Given the description of an element on the screen output the (x, y) to click on. 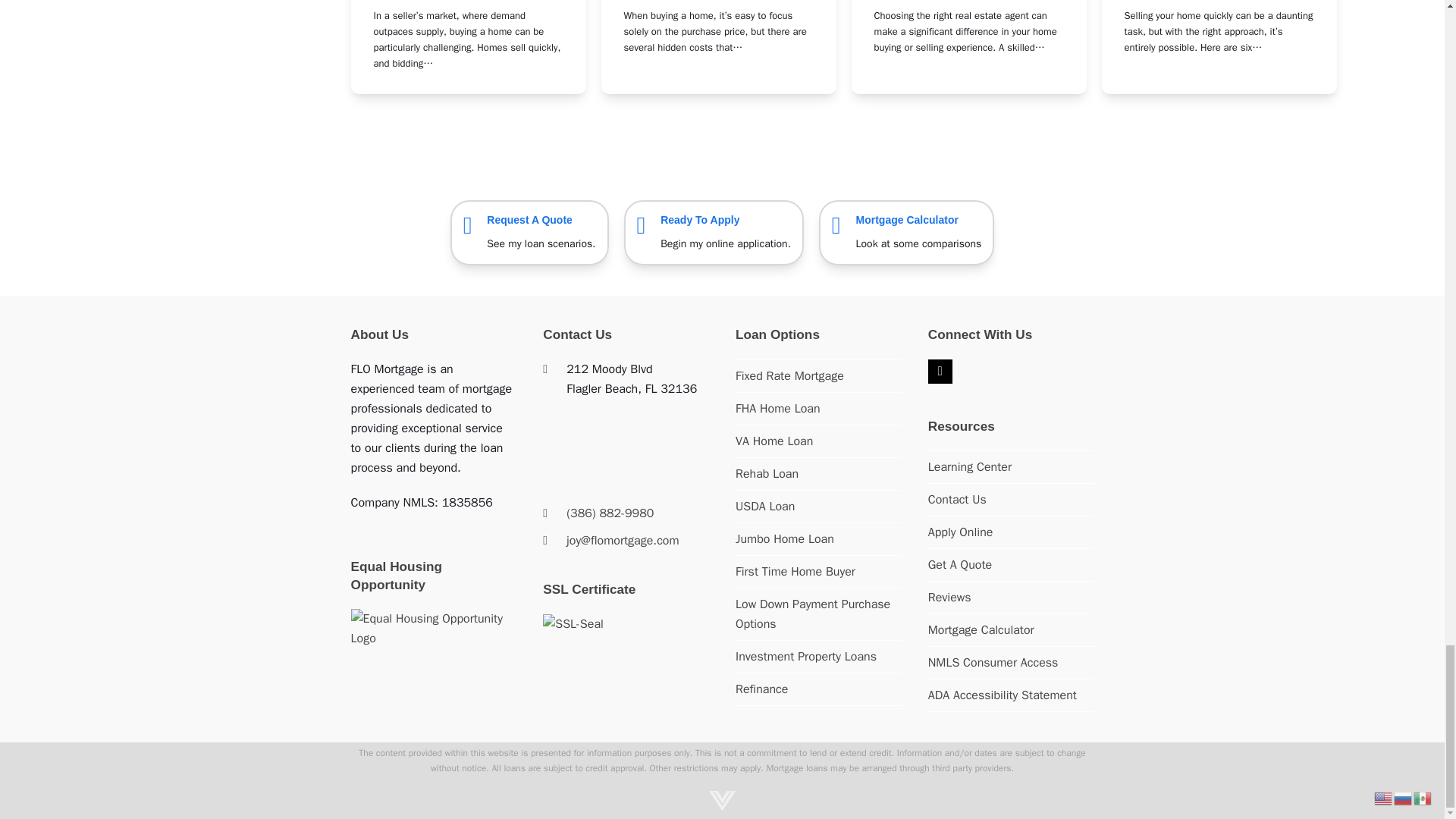
VA Home Loan (773, 441)
FHA Home Loan (778, 408)
Fixed Rate Mortgage (789, 376)
